Given the description of an element on the screen output the (x, y) to click on. 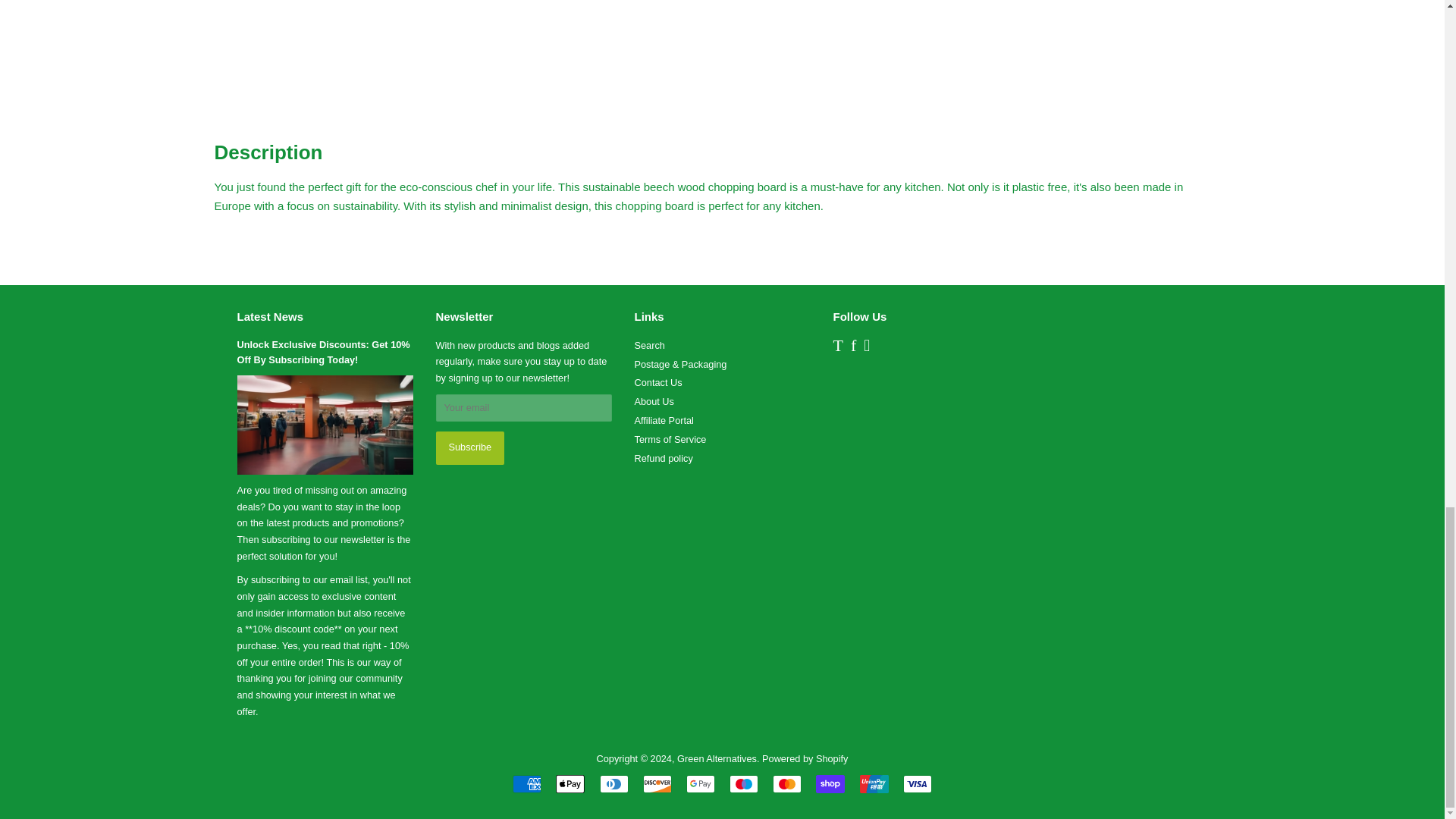
Google Pay (699, 783)
Visa (916, 783)
American Express (526, 783)
Union Pay (874, 783)
Shop Pay (829, 783)
Discover (657, 783)
Maestro (743, 783)
Subscribe (469, 448)
Apple Pay (570, 783)
Diners Club (613, 783)
Mastercard (787, 783)
